Given the description of an element on the screen output the (x, y) to click on. 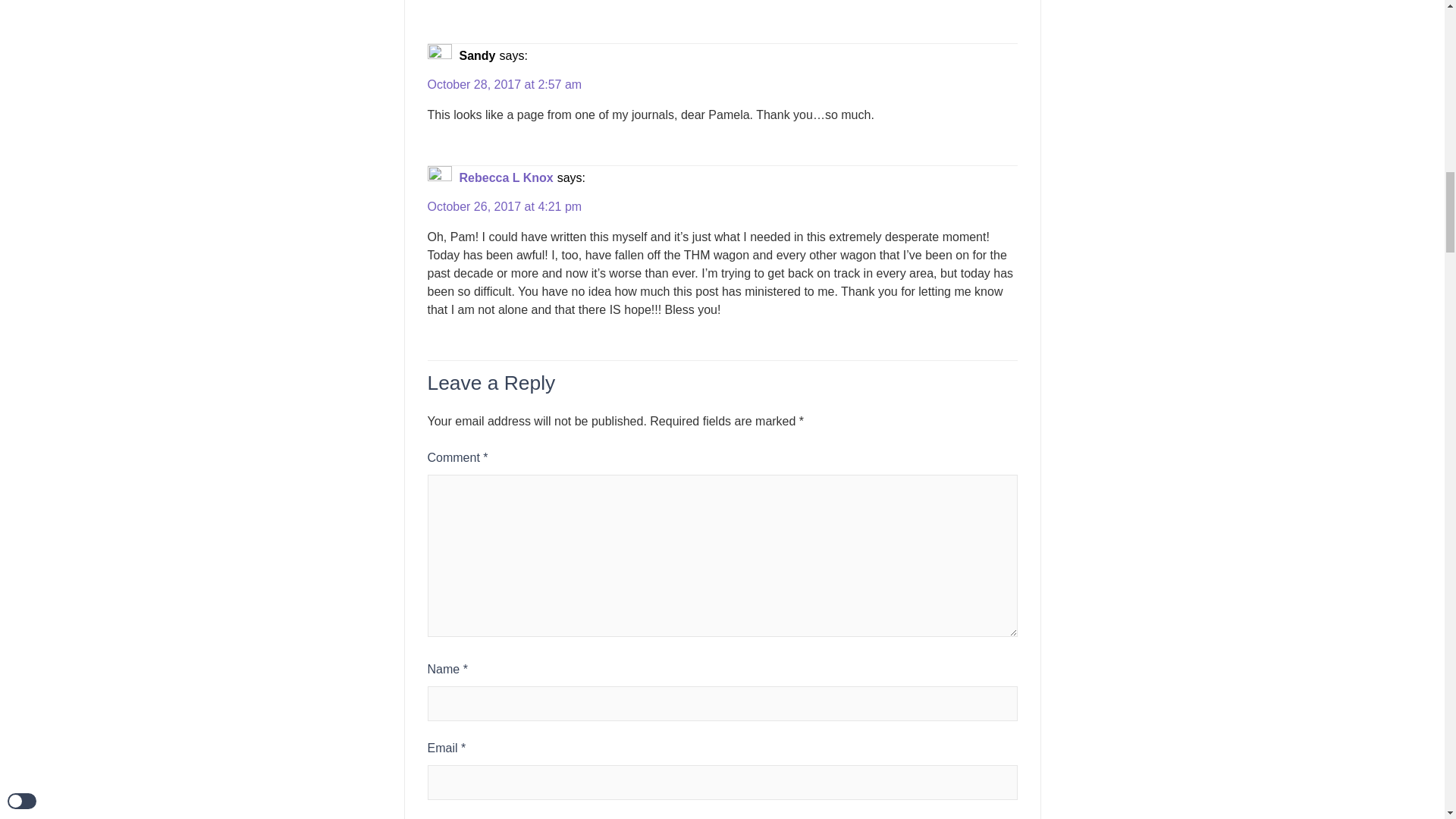
October 28, 2017 at 2:57 am (505, 85)
Rebecca L Knox (506, 177)
October 26, 2017 at 4:21 pm (505, 207)
